Given the description of an element on the screen output the (x, y) to click on. 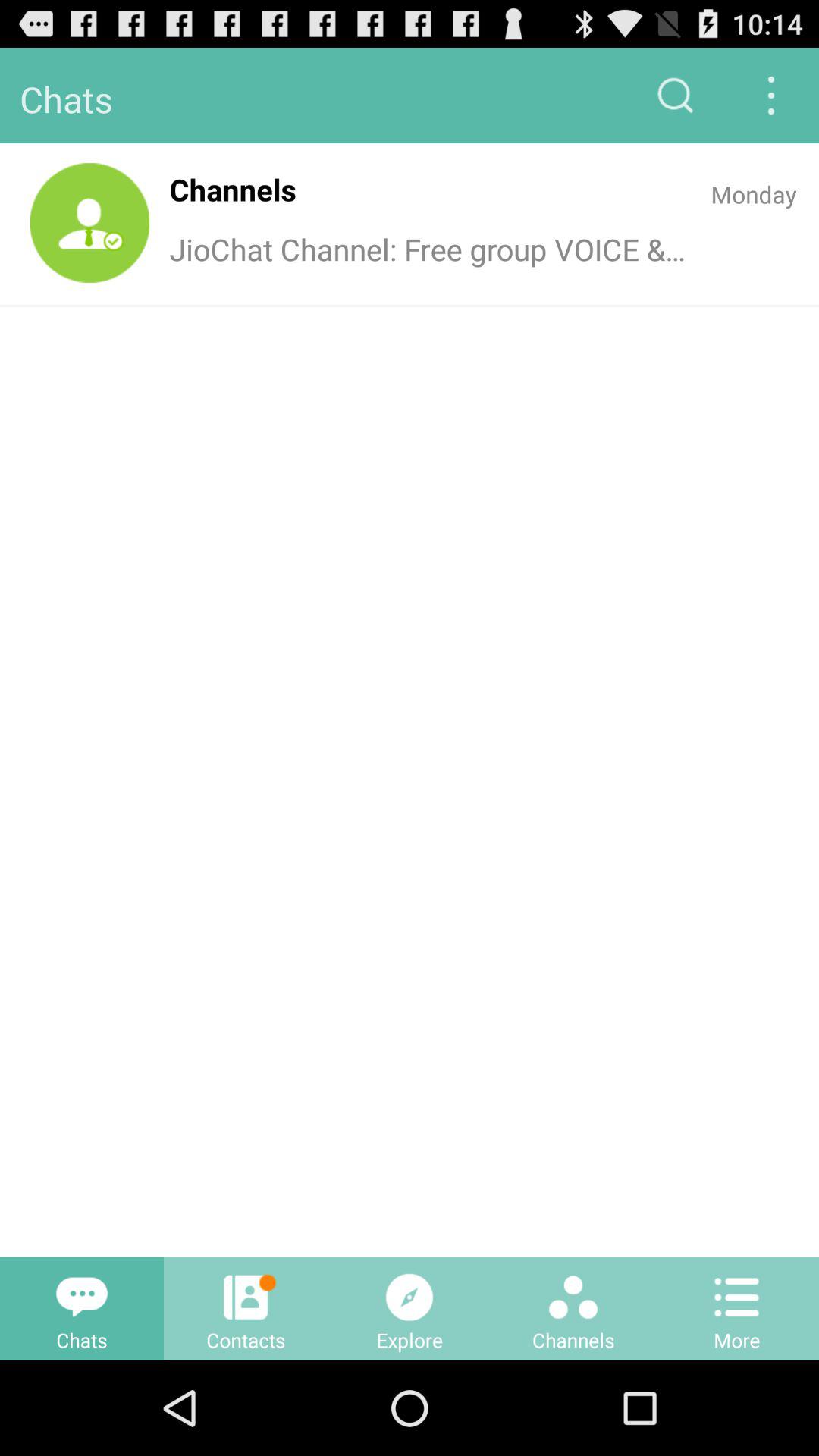
select the icon above the channels (573, 1297)
click on the bottom right option (737, 1308)
select the icon to the left of channels (89, 222)
click on the contacts icon which is next to chat icon (245, 1308)
